Given the description of an element on the screen output the (x, y) to click on. 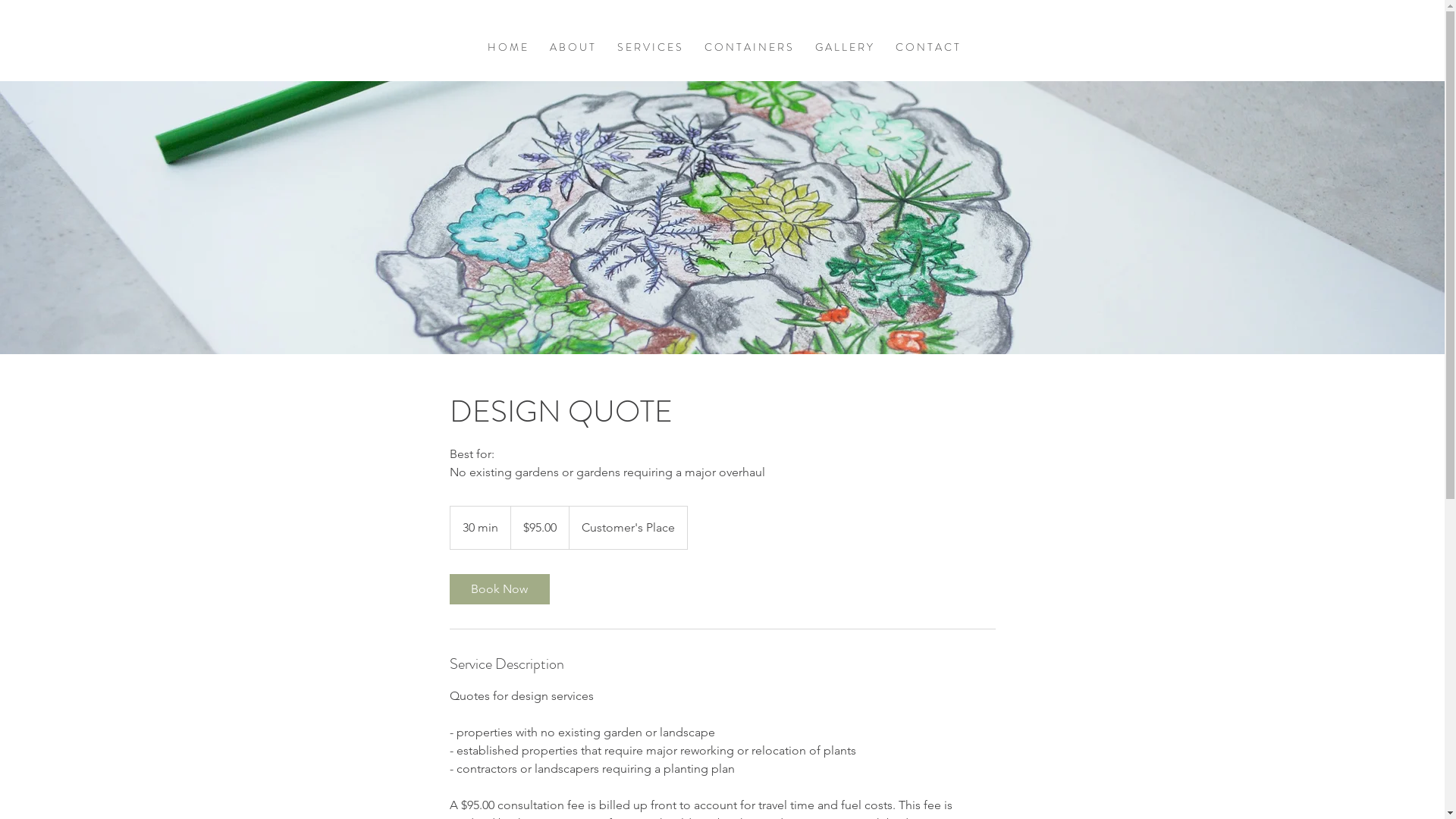
C O N T A C T Element type: text (927, 47)
A B O U T Element type: text (571, 47)
S E R V I C E S Element type: text (648, 47)
G A L L E R Y Element type: text (843, 47)
H O M E Element type: text (507, 47)
Book Now Element type: text (498, 589)
C O N T A I N E R S Element type: text (748, 47)
